Given the description of an element on the screen output the (x, y) to click on. 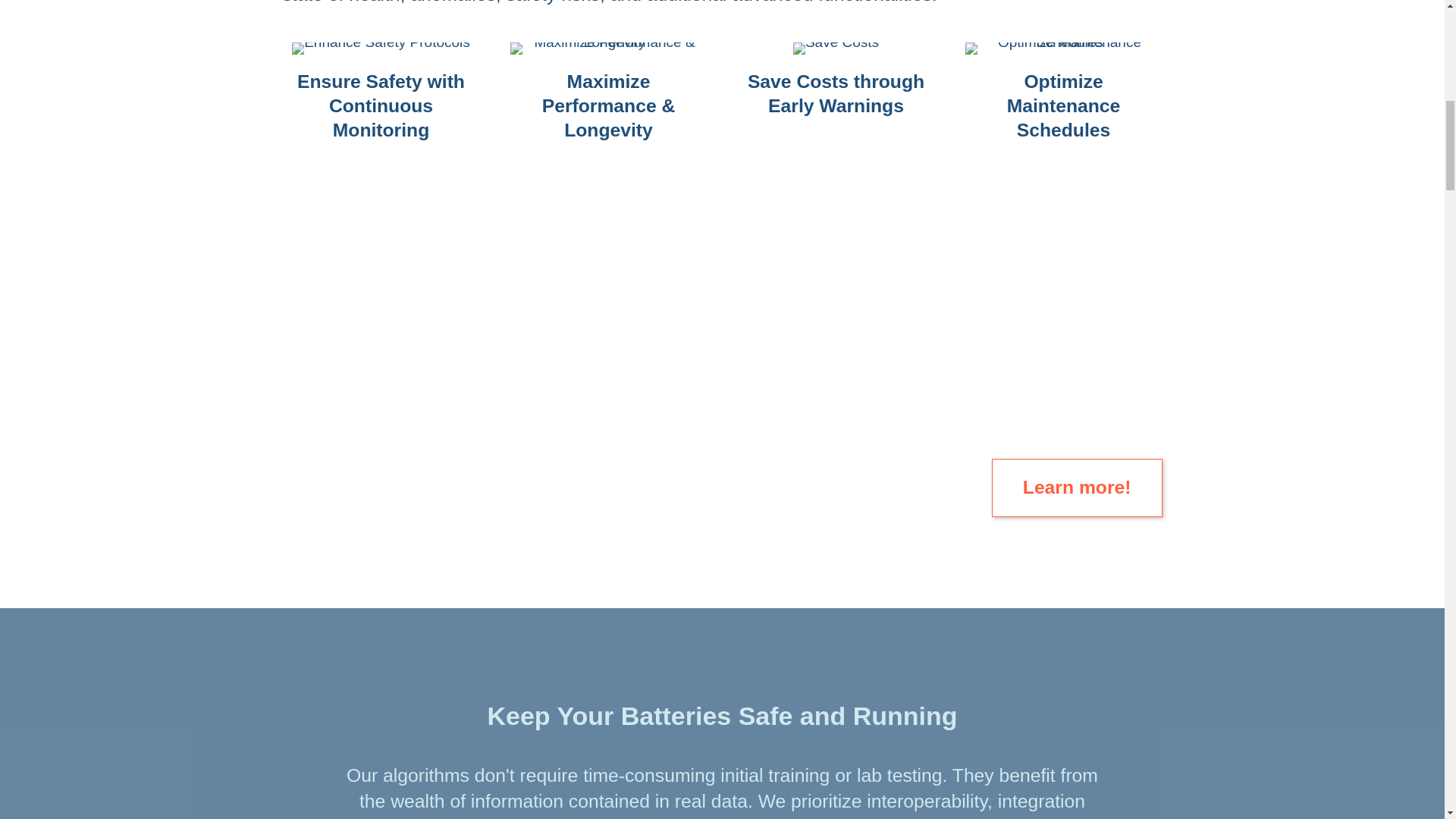
Learn more! (1076, 487)
Reduce Battery Cost (836, 48)
Better battery maintenance (1062, 48)
Battery Safety Protocols (381, 48)
Battery Performance (607, 48)
